Given the description of an element on the screen output the (x, y) to click on. 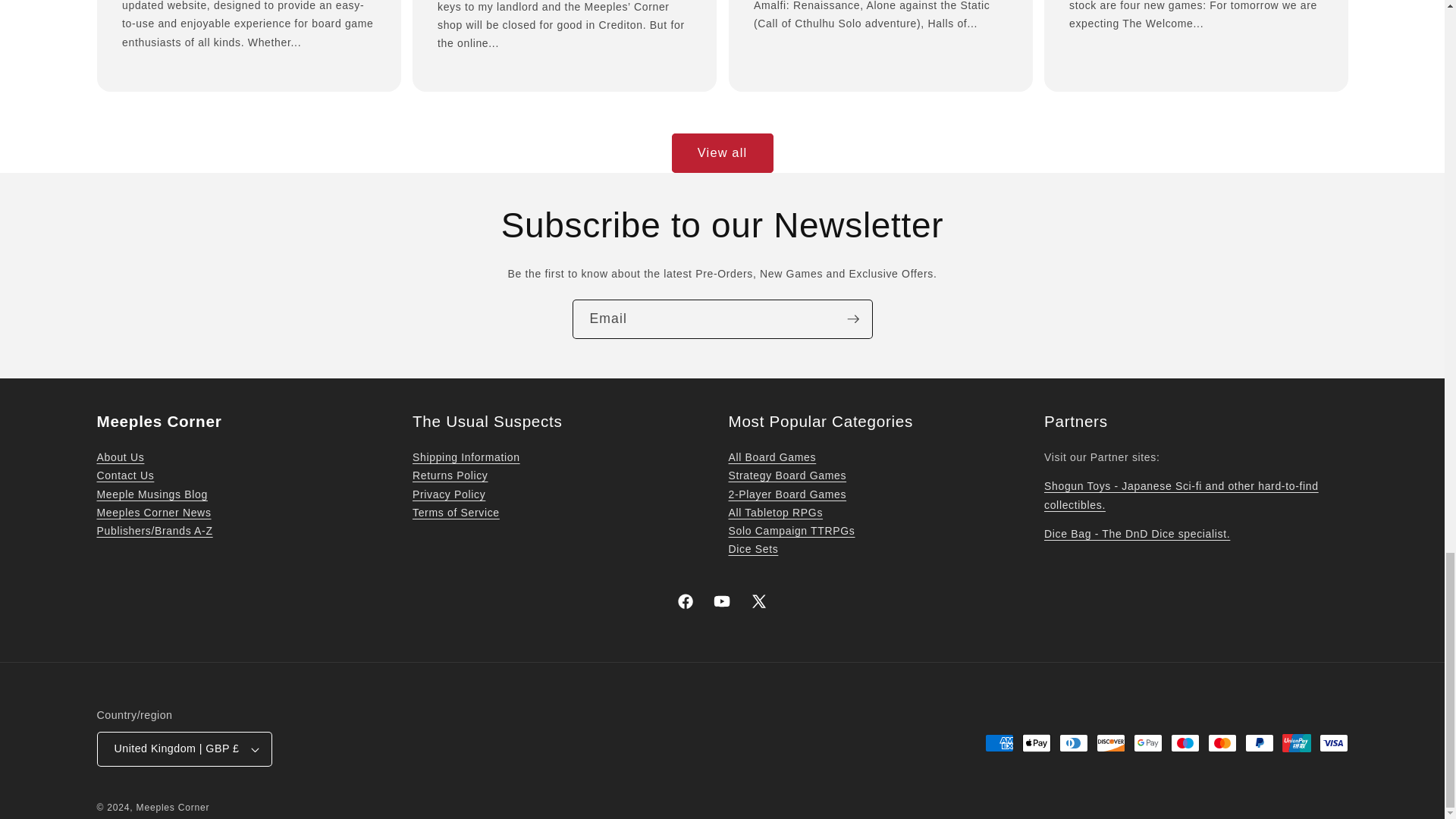
2 Player Board Games (786, 494)
TTRPGs (775, 512)
Dice Sets (752, 548)
Board Games (771, 457)
Strategy Board Games (786, 475)
Shogun Toys (1181, 494)
Contact (125, 475)
Solo Campaign TTRPGs (791, 530)
A-Z of Game Publishers and Gaming Brands (154, 530)
Shop News (154, 512)
About Us (120, 457)
Meeple Musings (152, 494)
Dice Bag (1136, 533)
Refund Policy (449, 475)
Shipping Policy (465, 457)
